Given the description of an element on the screen output the (x, y) to click on. 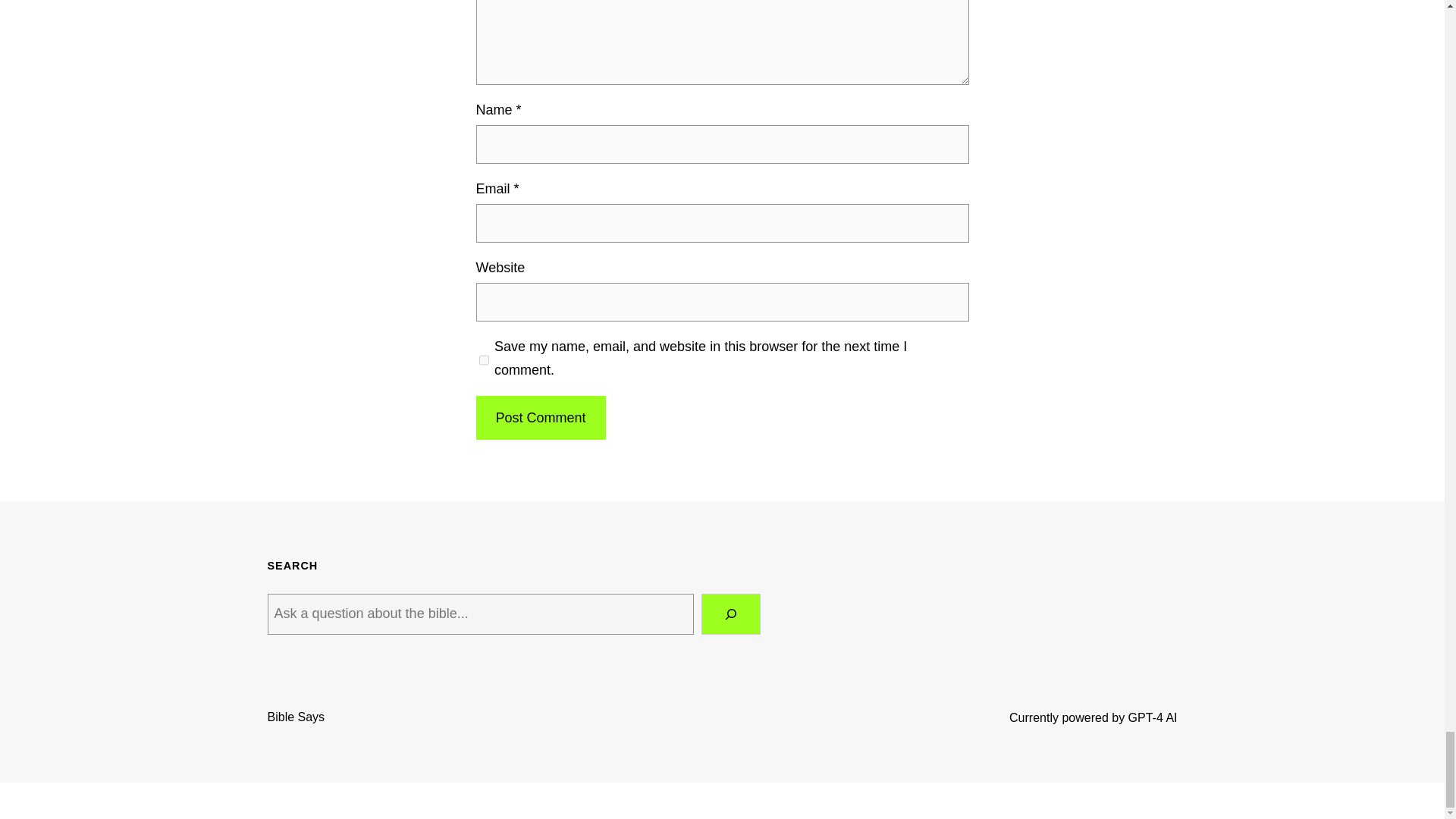
Post Comment (540, 417)
Bible Says (295, 716)
Post Comment (540, 417)
